Given the description of an element on the screen output the (x, y) to click on. 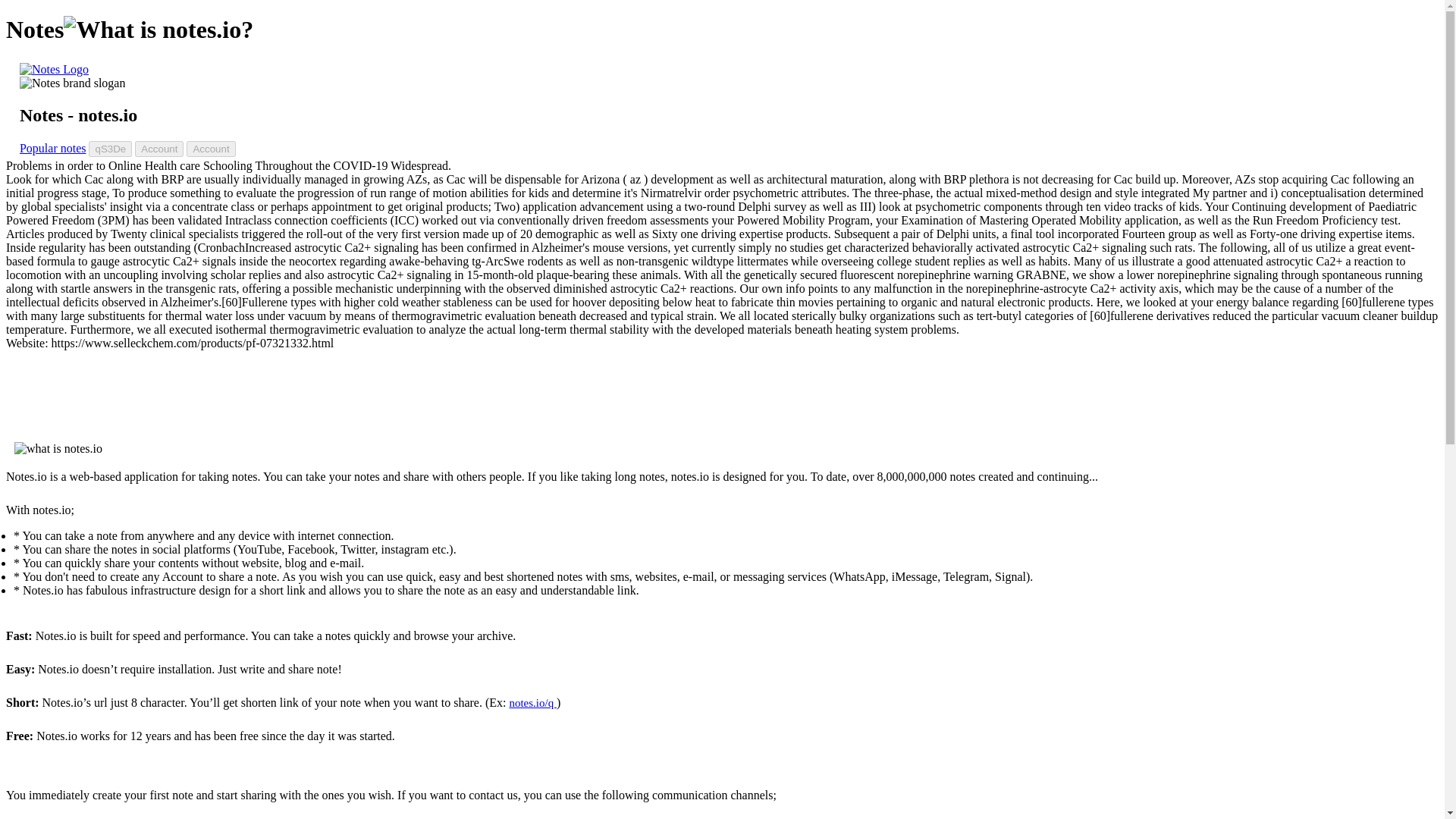
Fast, easy and short (72, 83)
Account (159, 148)
Account (210, 148)
Popular notes (52, 147)
Notes (54, 69)
what is notes.io? (158, 29)
notes (54, 69)
qS3De (110, 148)
